Given the description of an element on the screen output the (x, y) to click on. 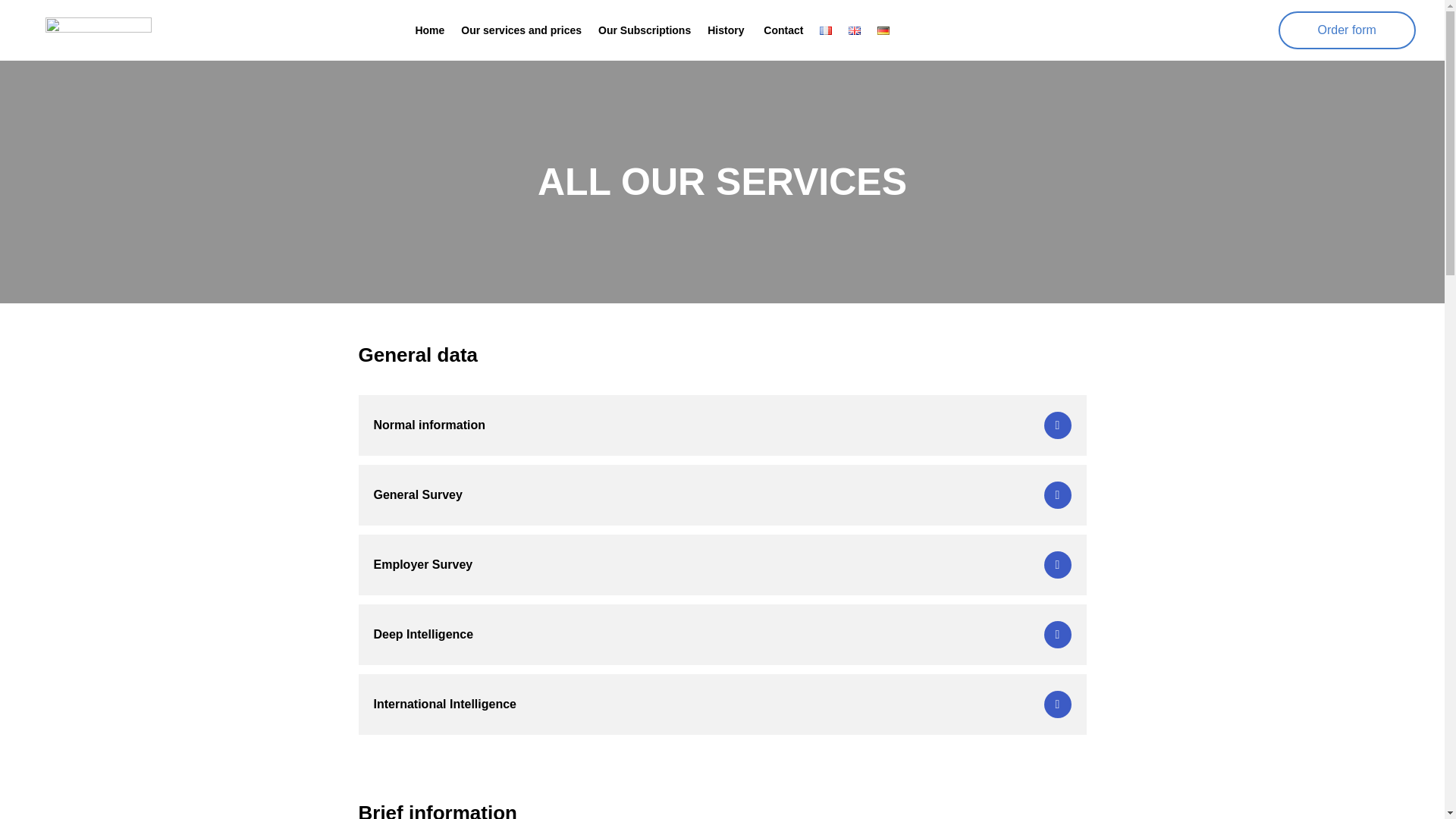
 Contact (781, 29)
History (725, 29)
Our Subscriptions (644, 29)
Order form (1346, 30)
Our services and prices (520, 29)
Home (429, 29)
